Given the description of an element on the screen output the (x, y) to click on. 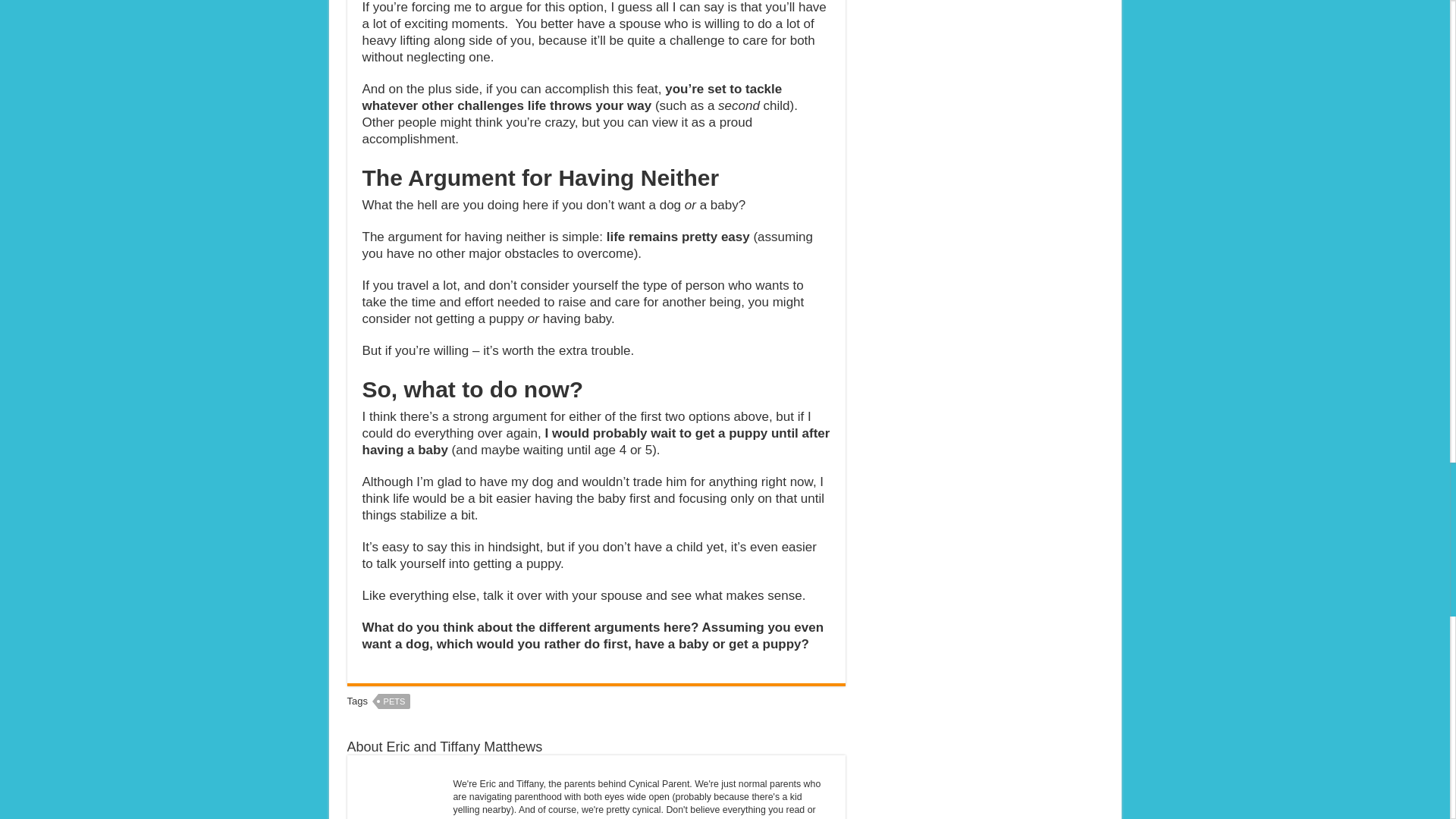
PETS (394, 701)
